Given the description of an element on the screen output the (x, y) to click on. 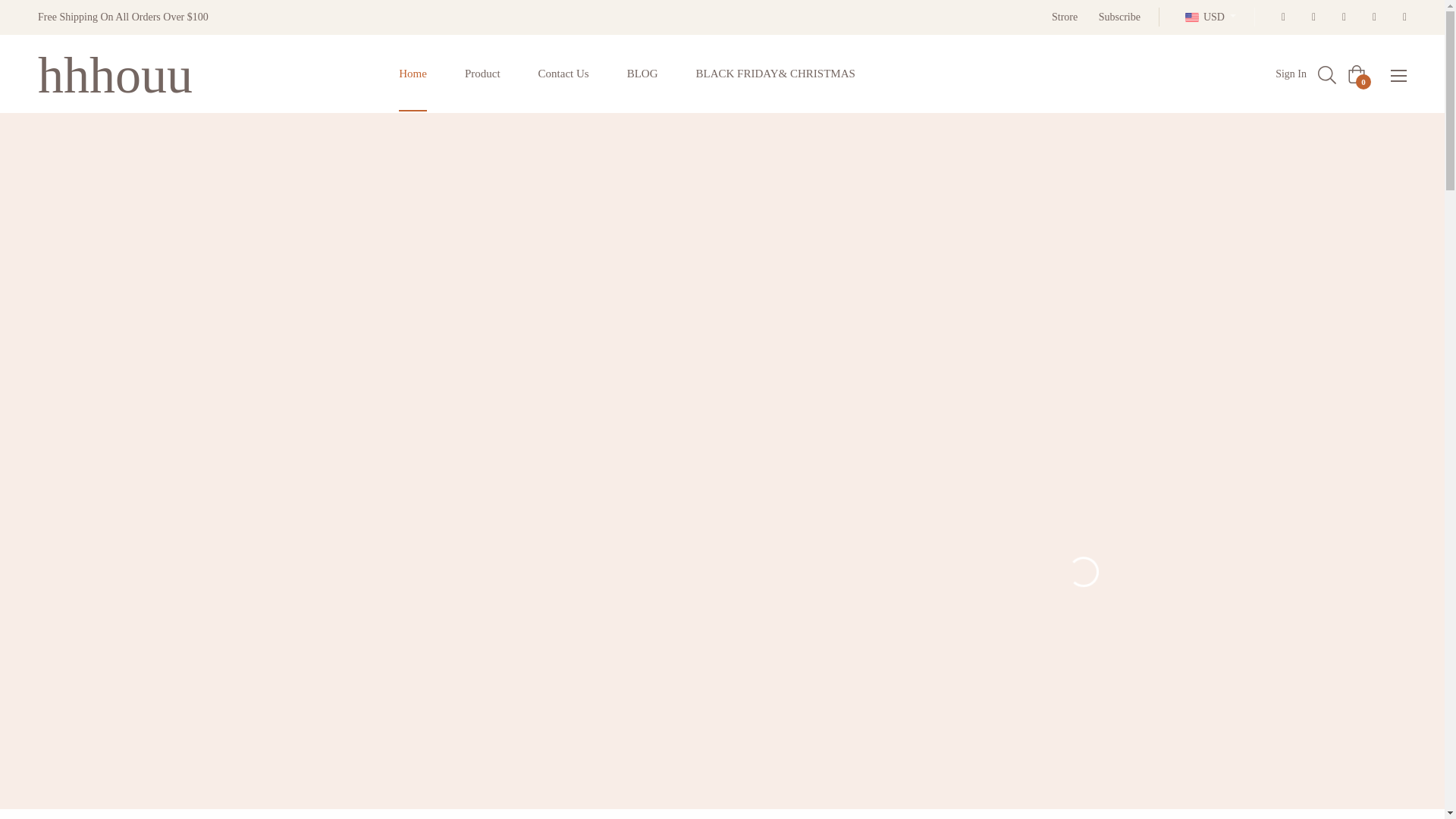
hhhouu on YouTube (1400, 16)
hhhouu on Twitter (1309, 16)
hhhouu on Pinterest (1339, 16)
hhhouu on Instagram (1369, 16)
Sign In (1290, 73)
Product (482, 74)
hhhouu on Facebook (1278, 16)
Subscribe (1119, 16)
Currencies (1210, 16)
Contact Us (563, 74)
Shopping Cart (1356, 74)
Strore (1064, 16)
